Given the description of an element on the screen output the (x, y) to click on. 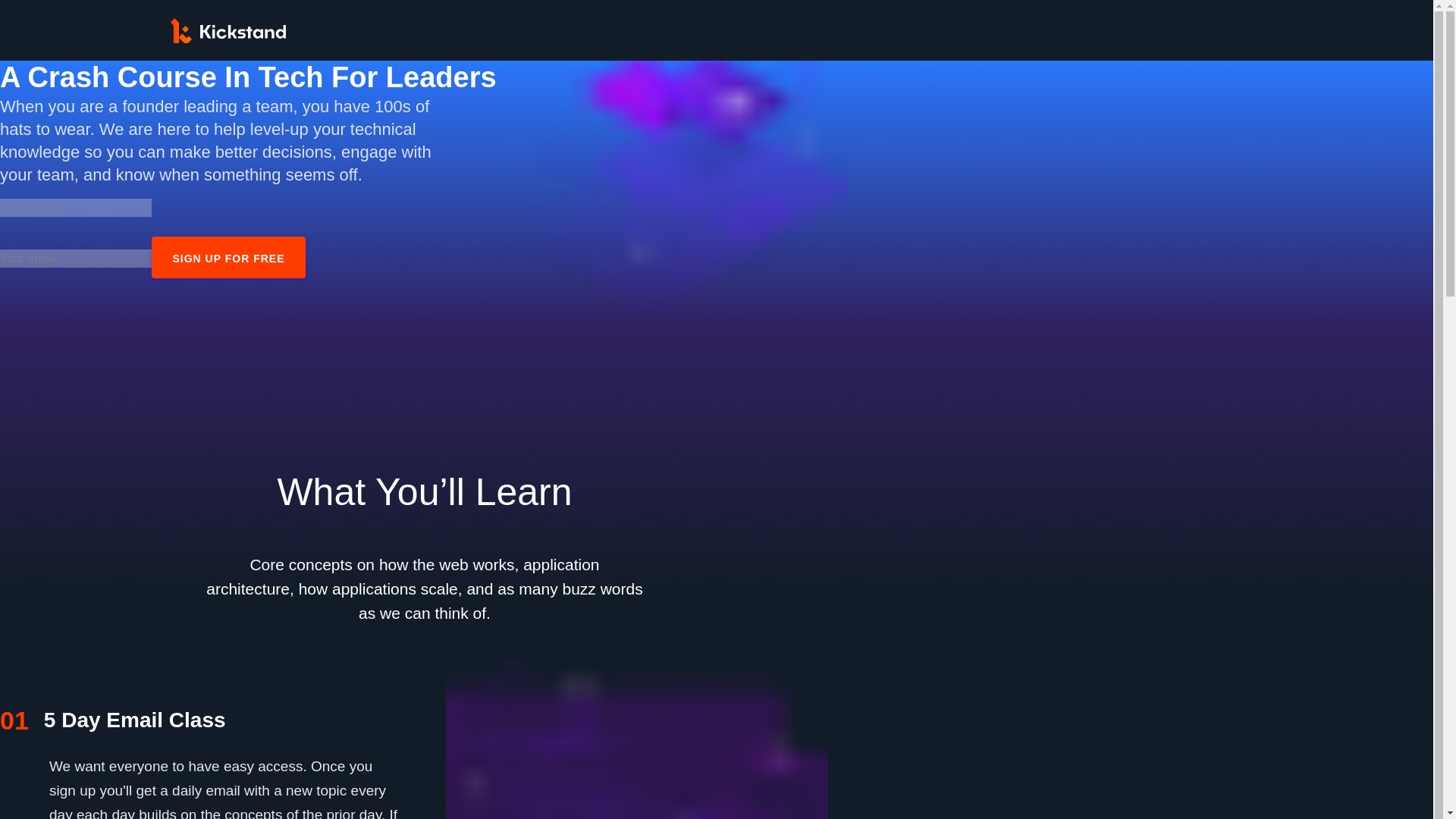
SIGN UP FOR FREE (228, 257)
